Given the description of an element on the screen output the (x, y) to click on. 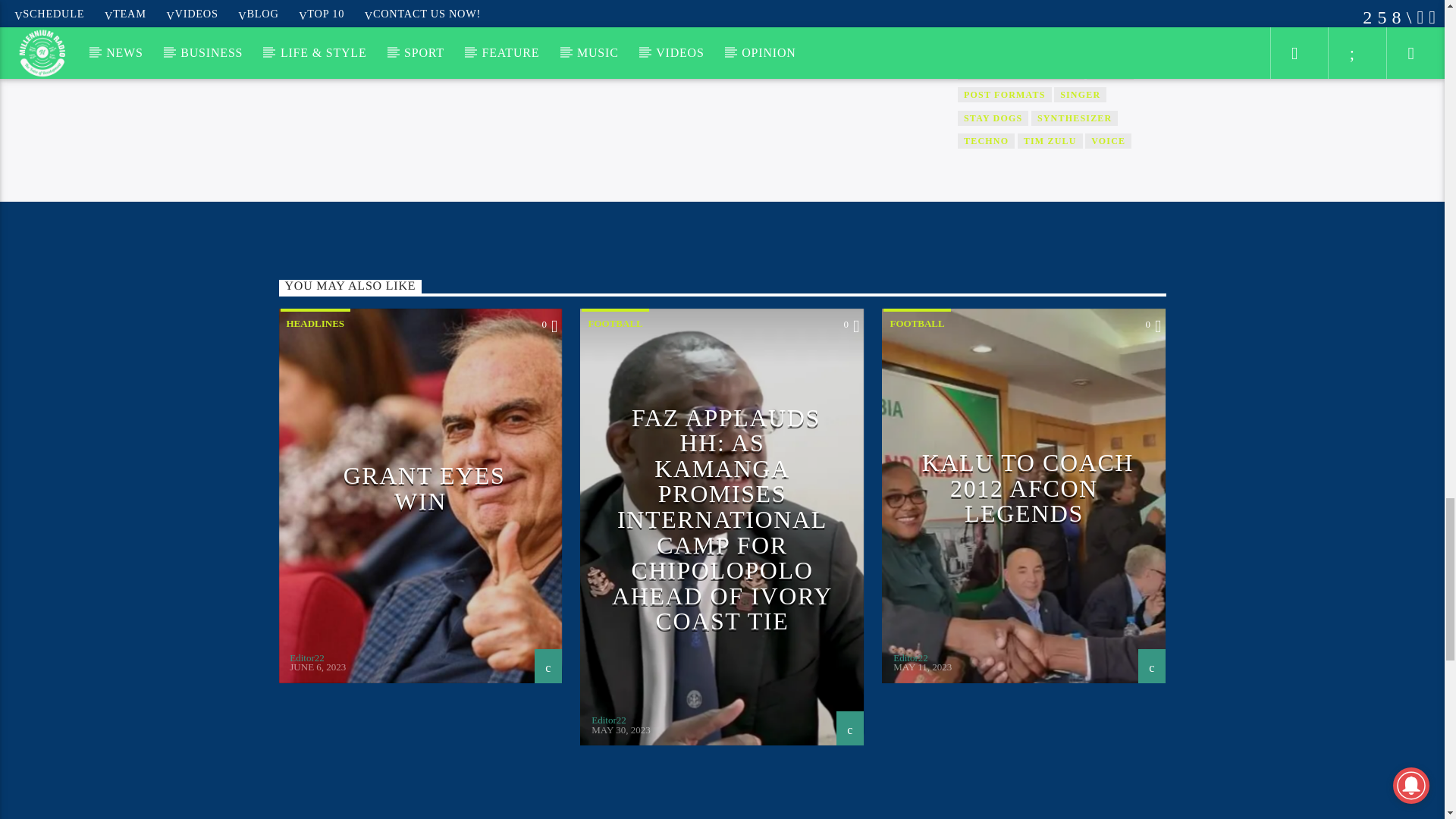
Posts by Editor22 (910, 657)
Posts by Editor22 (608, 719)
Posts by Editor22 (306, 657)
